Given the description of an element on the screen output the (x, y) to click on. 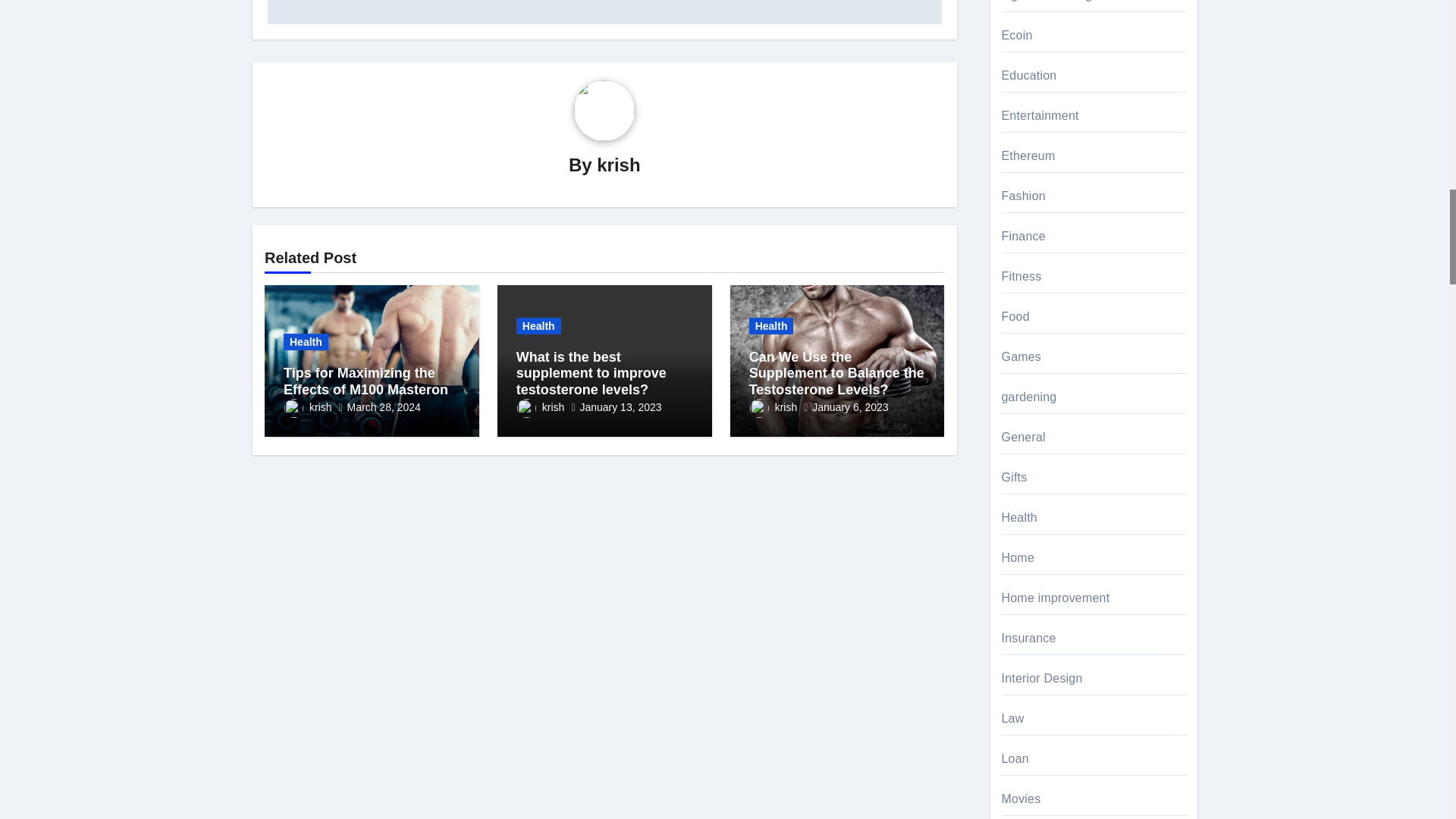
Health (306, 341)
krish (618, 164)
krish (307, 407)
Tips for Maximizing the Effects of M100 Masteron (365, 381)
